Given the description of an element on the screen output the (x, y) to click on. 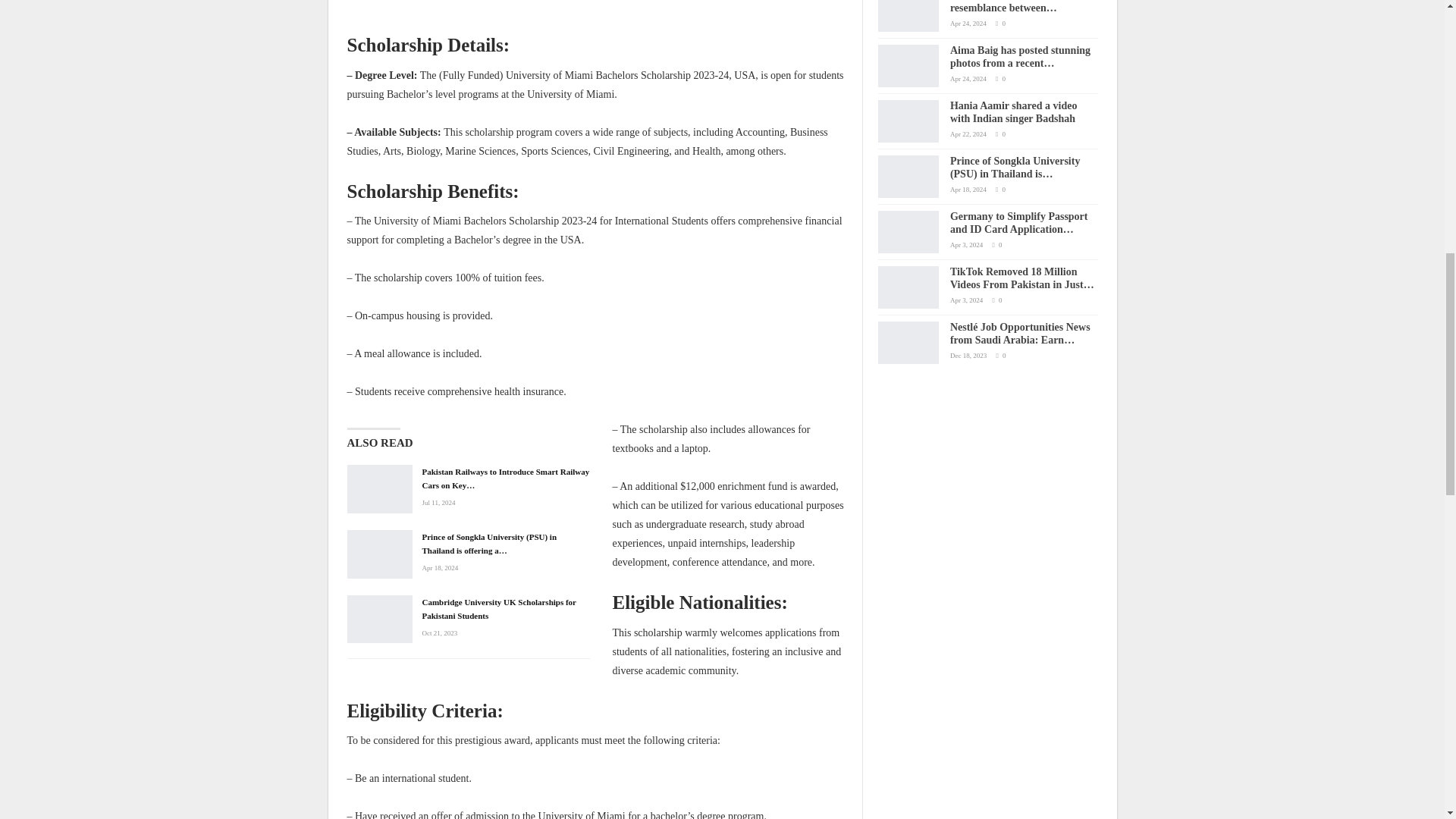
Cambridge University UK Scholarships for Pakistani Students (379, 619)
